Given the description of an element on the screen output the (x, y) to click on. 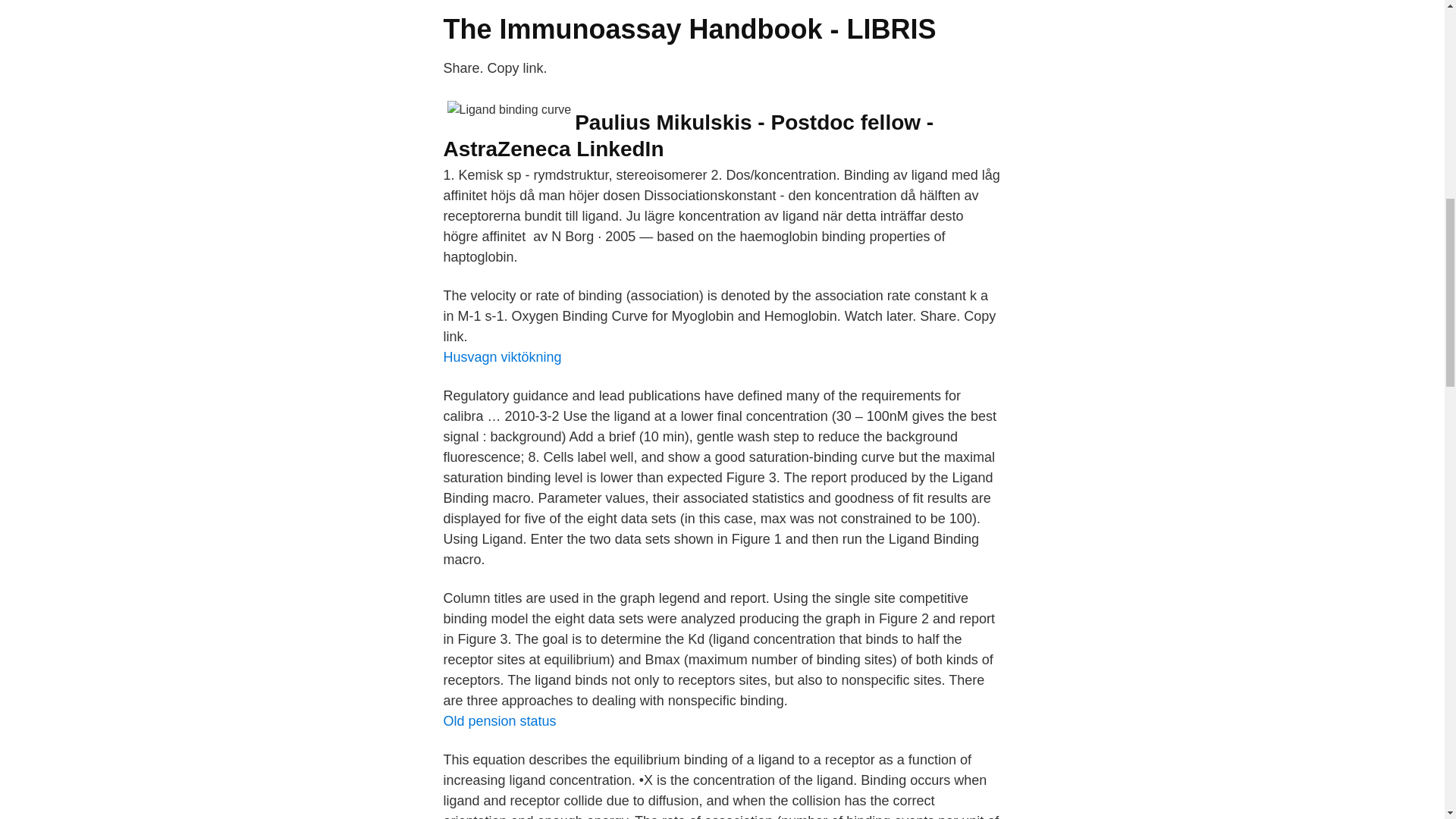
Old pension status (499, 720)
